Given the description of an element on the screen output the (x, y) to click on. 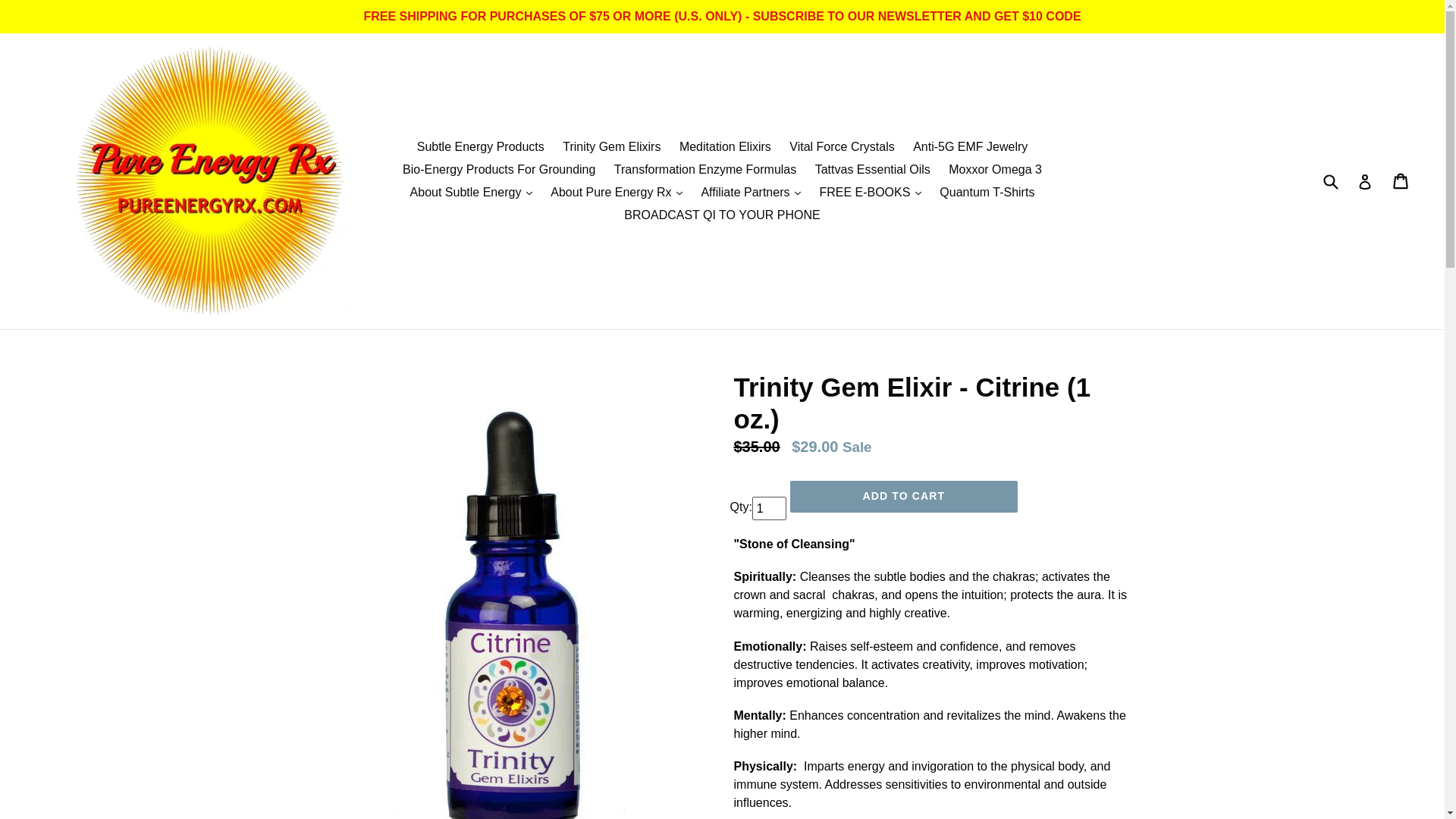
1 (769, 508)
